Given the description of an element on the screen output the (x, y) to click on. 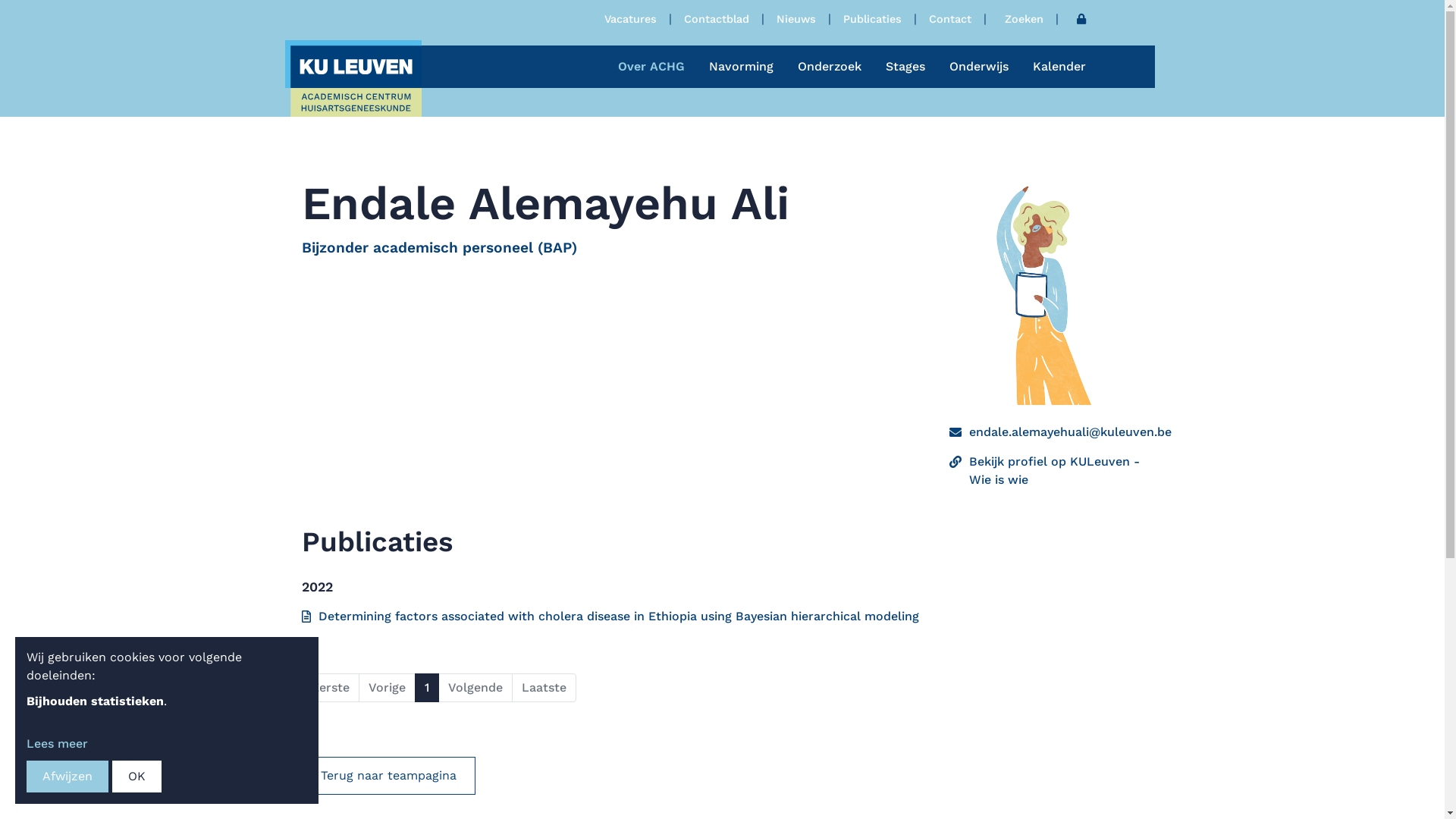
Bekijk profiel op KULeuven - Wie is wie Element type: text (1055, 470)
Kalender Element type: text (1058, 66)
Eerste Element type: text (330, 687)
endale.alemayehuali@kuleuven.be Element type: text (1070, 432)
Contact Element type: text (949, 18)
Vacatures Element type: text (629, 18)
Navorming Element type: text (740, 66)
Onderwijs Element type: text (978, 66)
Zoeken Element type: text (1023, 18)
Publicaties Element type: text (872, 18)
Afwijzen Element type: text (67, 776)
OK Element type: text (136, 776)
Vorige Element type: text (385, 687)
Nieuws Element type: text (795, 18)
Onderzoek Element type: text (829, 66)
Volgende Element type: text (475, 687)
Laatste Element type: text (543, 687)
Over ACHG Element type: text (650, 66)
1 Element type: text (426, 687)
Contactblad Element type: text (716, 18)
Terug naar teampagina Element type: text (388, 775)
Lees meer Element type: text (56, 743)
Stages Element type: text (905, 66)
